Given the description of an element on the screen output the (x, y) to click on. 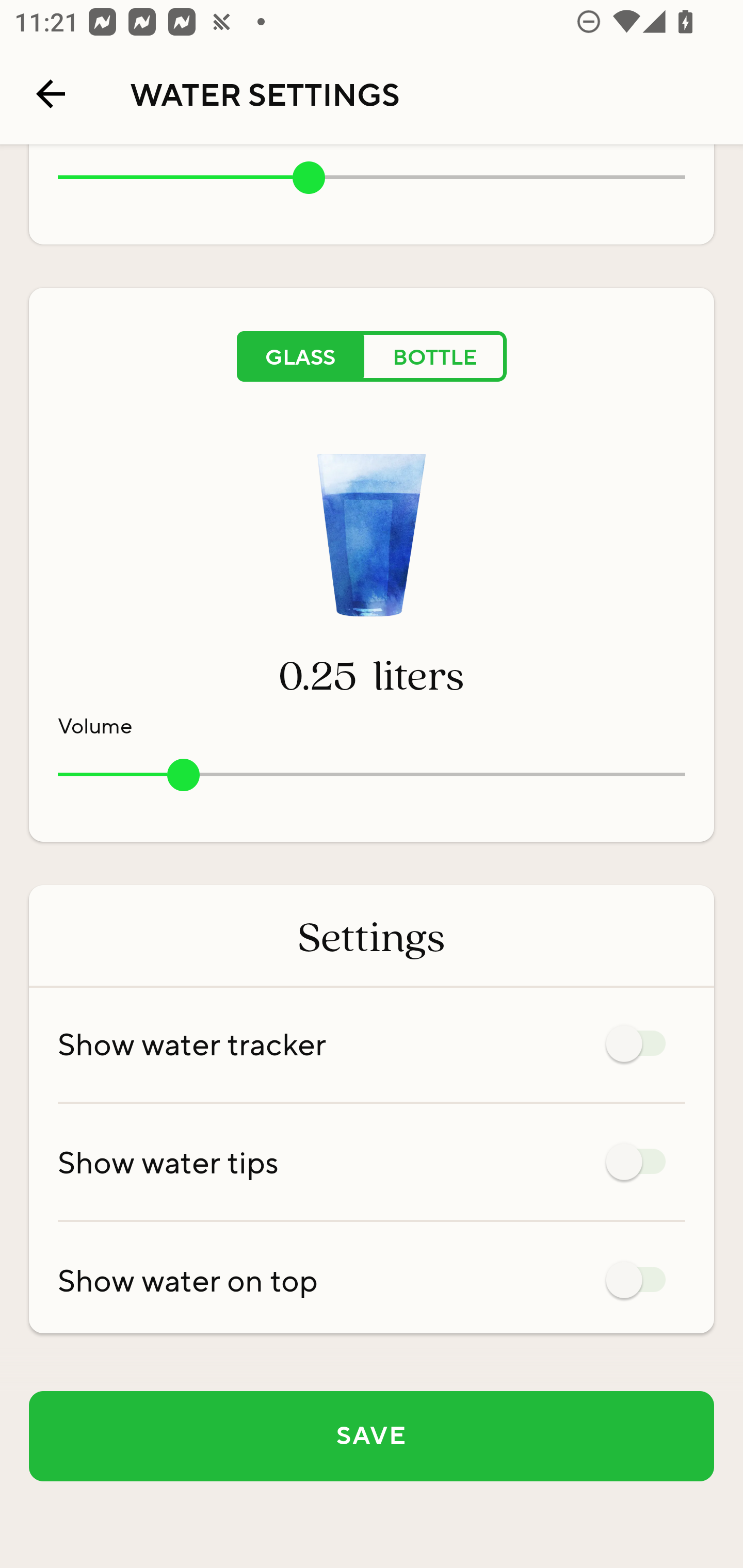
Navigate up (50, 93)
GLASS (300, 355)
BOTTLE (435, 355)
SAVE (371, 1435)
